Given the description of an element on the screen output the (x, y) to click on. 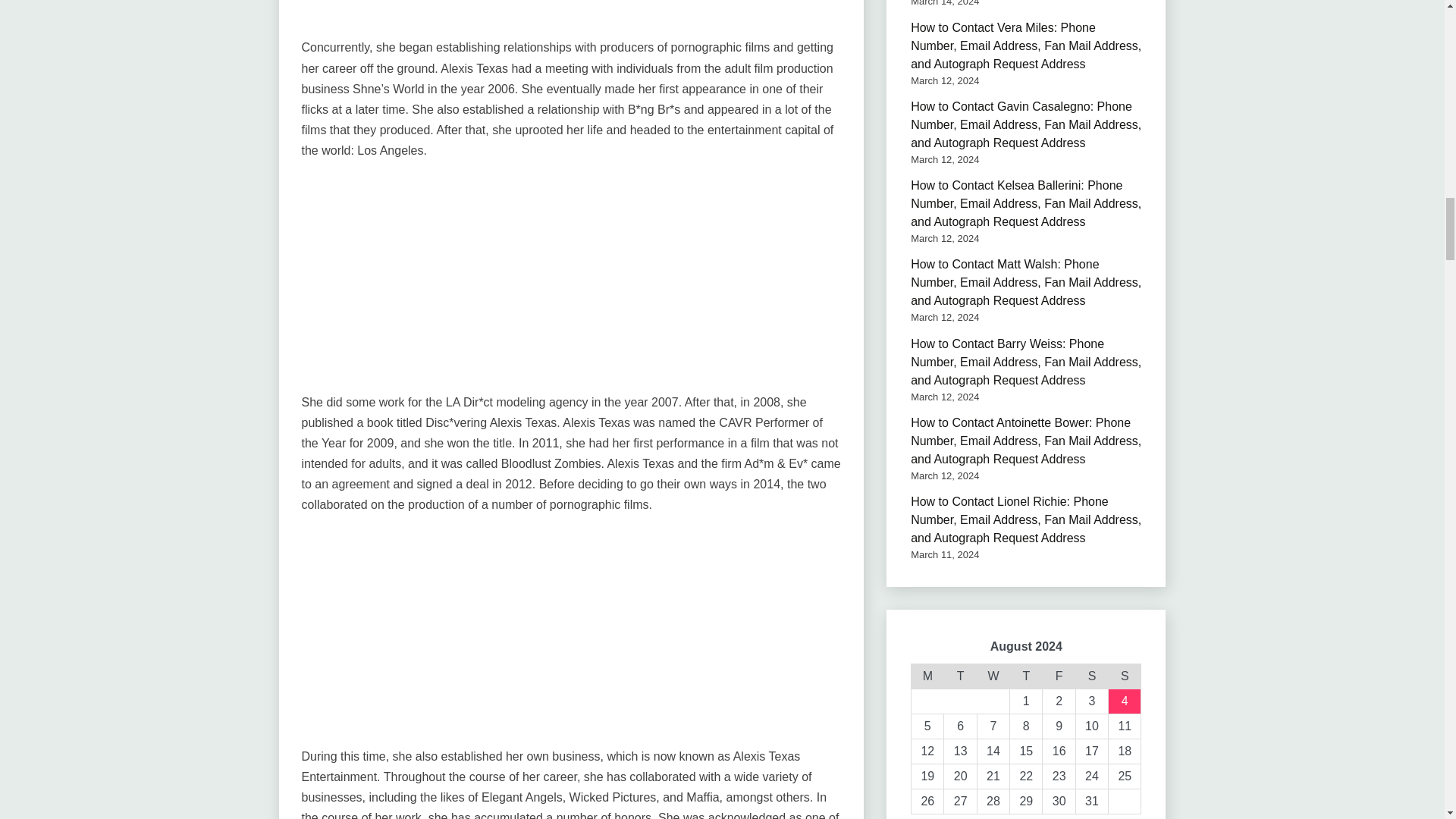
Thursday (1026, 675)
Advertisement (571, 18)
Advertisement (571, 639)
Monday (927, 675)
Advertisement (571, 285)
Friday (1058, 675)
Tuesday (959, 675)
Saturday (1091, 675)
Wednesday (992, 675)
